Given the description of an element on the screen output the (x, y) to click on. 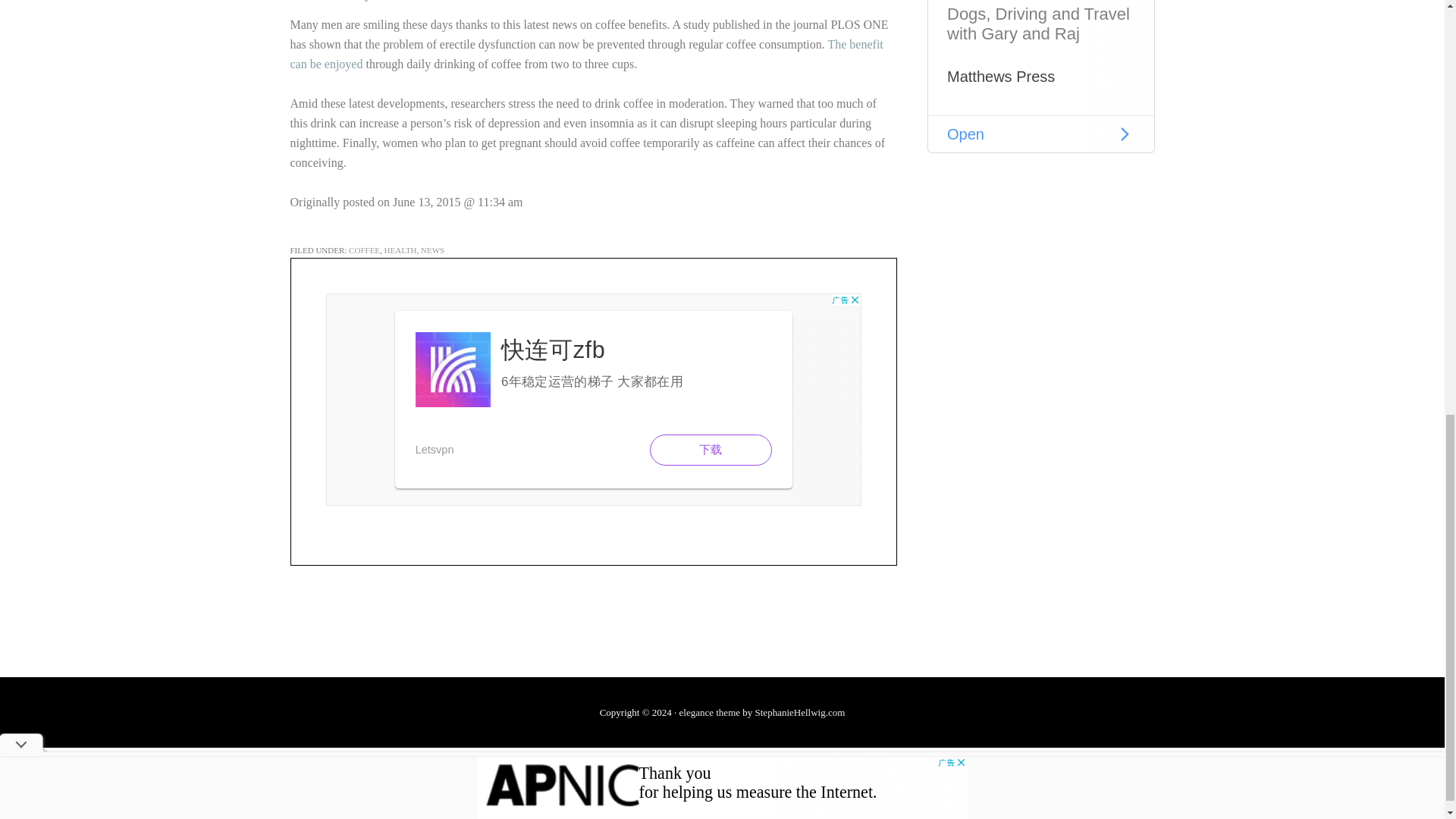
The benefit can be enjoyed (585, 53)
HEALTH (400, 249)
Advertisement (1040, 76)
elegance theme (709, 712)
NEWS (432, 249)
COFFEE (364, 249)
StephanieHellwig.com (800, 712)
Advertisement (593, 399)
